Given the description of an element on the screen output the (x, y) to click on. 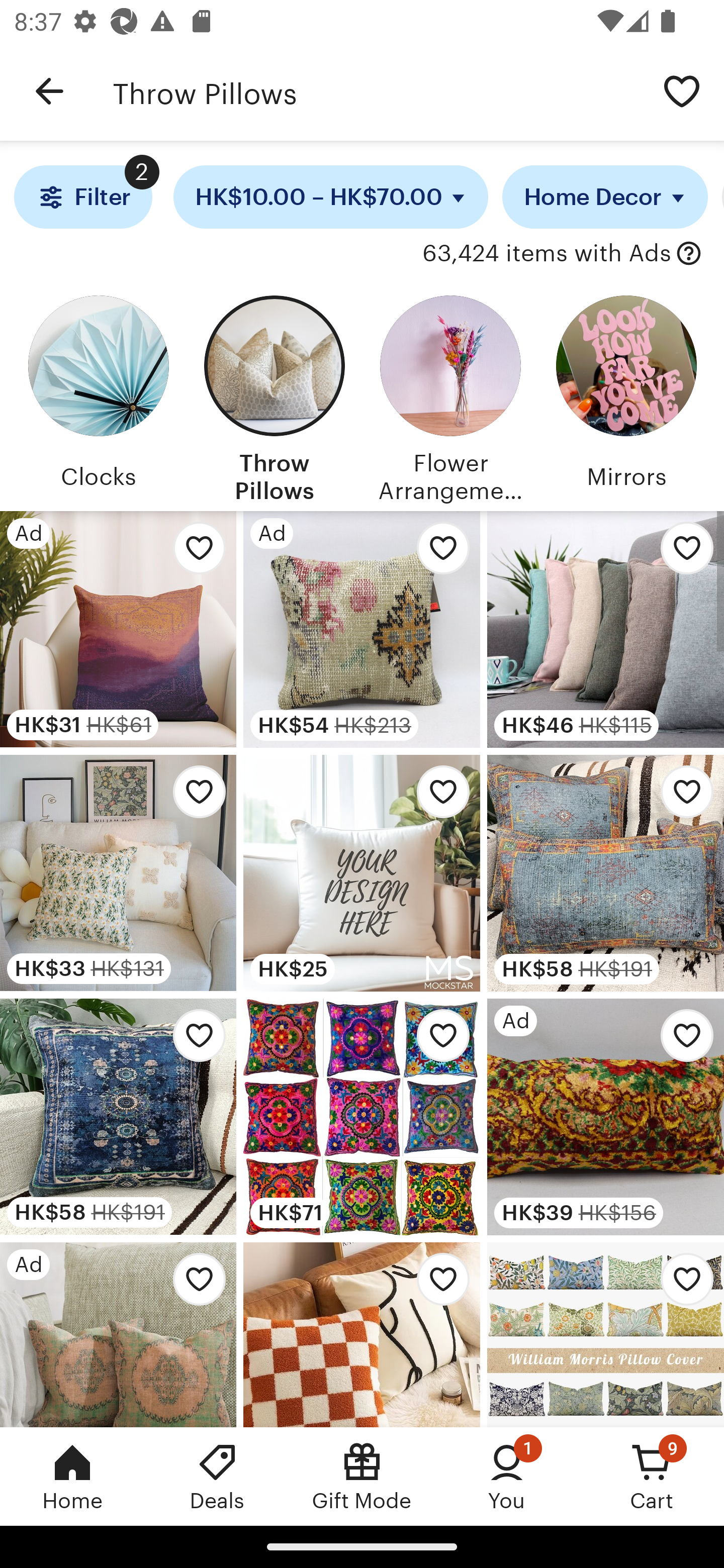
Navigate up (49, 91)
Save search (681, 90)
Throw Pillows (375, 91)
Filter (82, 197)
HK$10.00 – HK$70.00 (330, 197)
Home Decor (605, 197)
63,424 items with Ads (546, 253)
with Ads (688, 253)
Clocks (97, 395)
Throw Pillows (273, 395)
Flower Arrangements (449, 395)
Mirrors (625, 395)
Deals (216, 1475)
Gift Mode (361, 1475)
You, 1 new notification You (506, 1475)
Cart, 9 new notifications Cart (651, 1475)
